Given the description of an element on the screen output the (x, y) to click on. 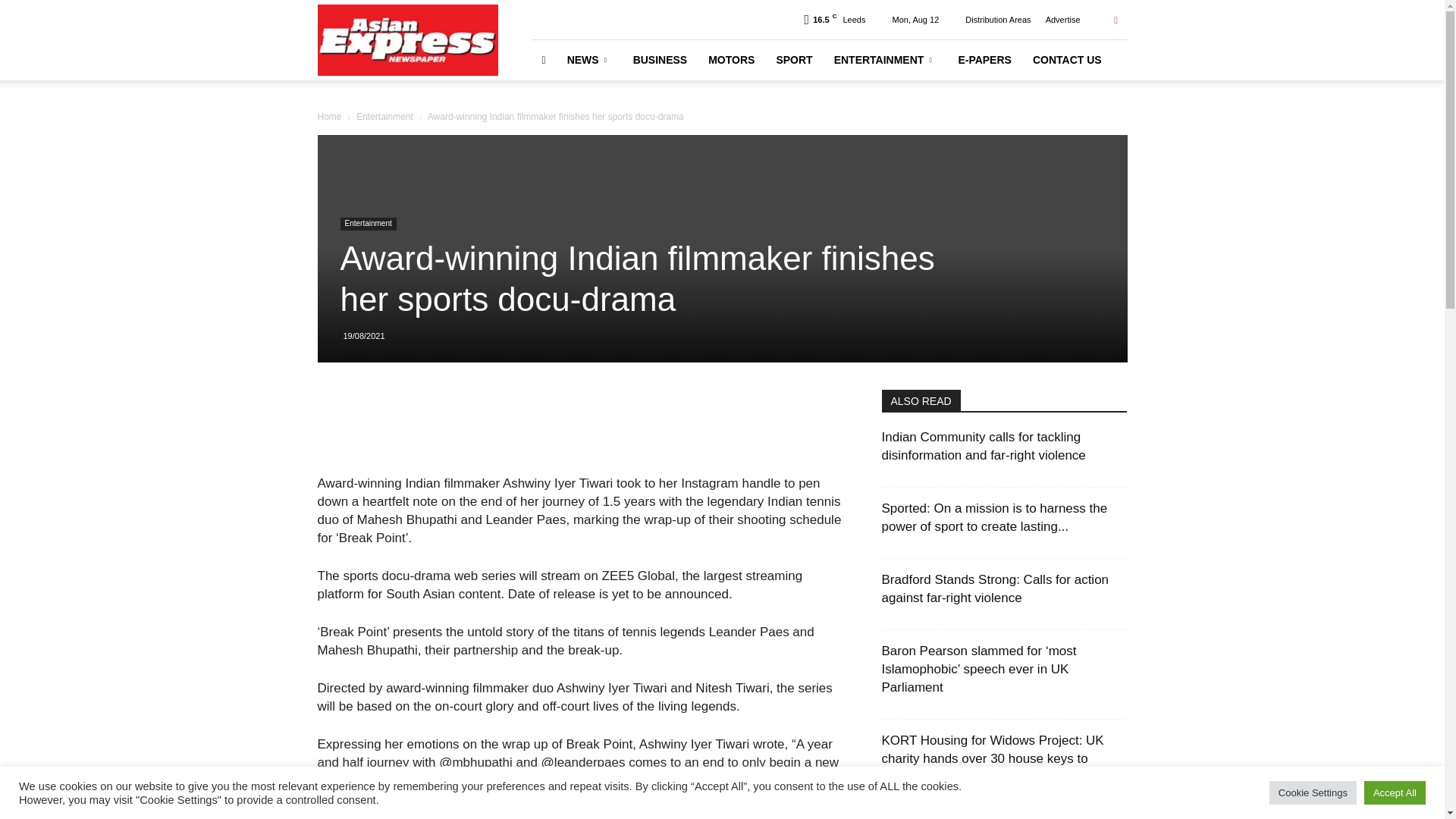
Advertise (1062, 19)
View all posts in Entertainment (384, 116)
NEWS (589, 60)
Distribution Areas (997, 19)
Search (1085, 73)
